Given the description of an element on the screen output the (x, y) to click on. 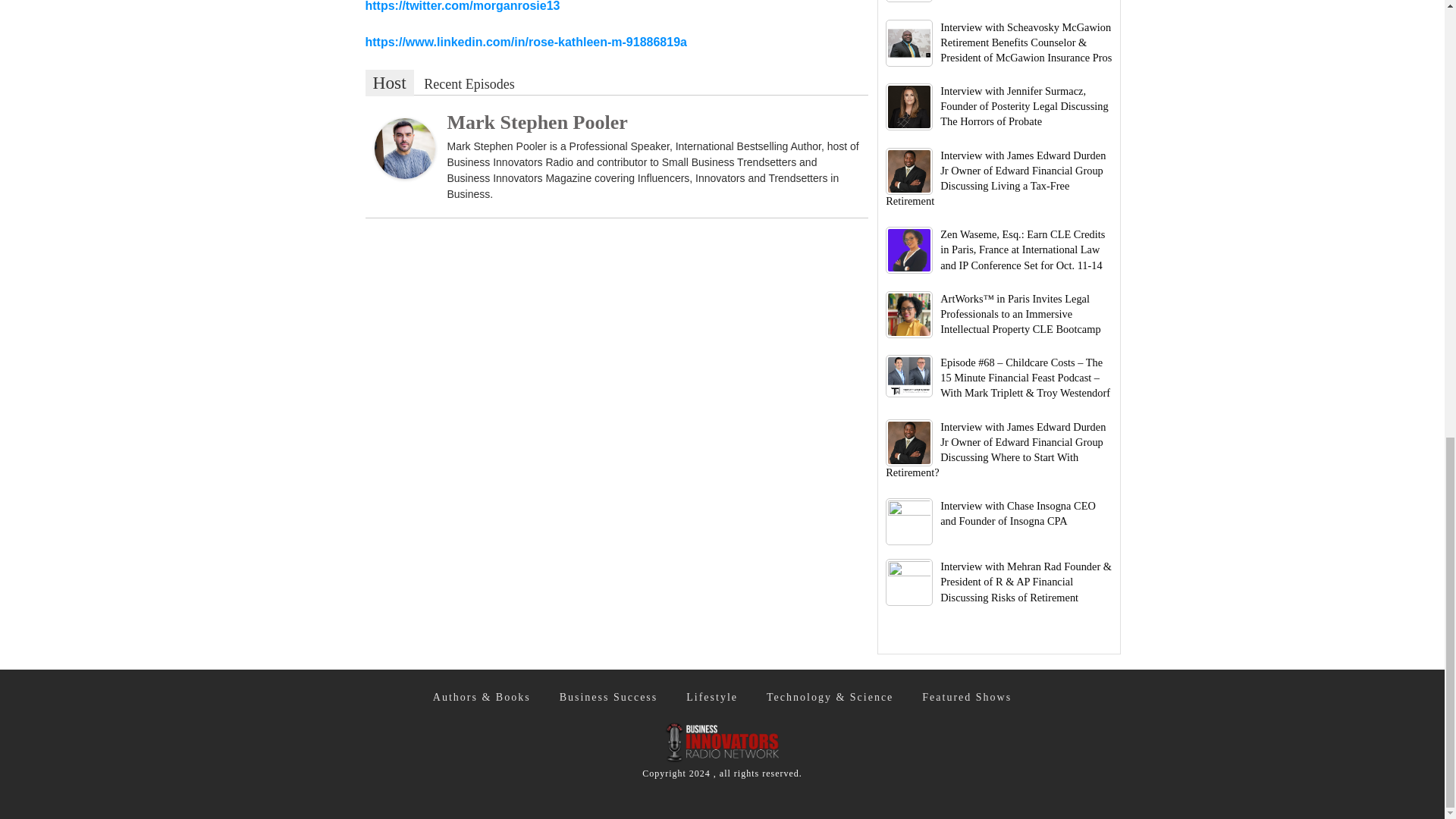
Host (389, 82)
Recent Episodes (468, 84)
Mark Stephen Pooler (404, 146)
Mark Stephen Pooler (536, 122)
